Given the description of an element on the screen output the (x, y) to click on. 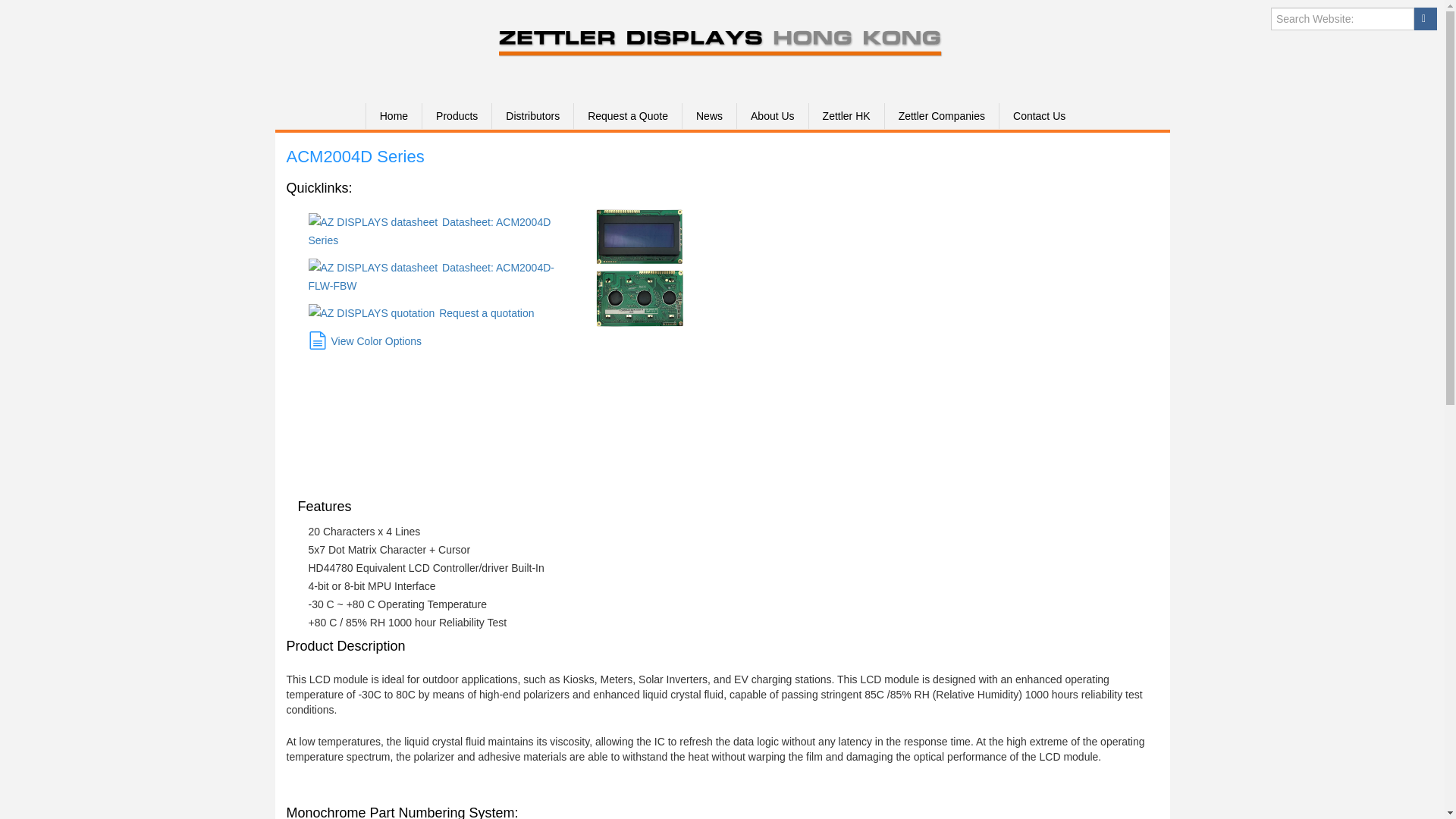
View Color Options (364, 340)
Datasheet: ACM2004D Series (428, 231)
Home (393, 115)
Zettler HK (845, 115)
Request a quotation (420, 313)
Request a Quote (627, 115)
Datasheet: ACM2004D-FLW-FBW (430, 276)
About Us (772, 115)
Products (457, 115)
Search (1425, 18)
